Given the description of an element on the screen output the (x, y) to click on. 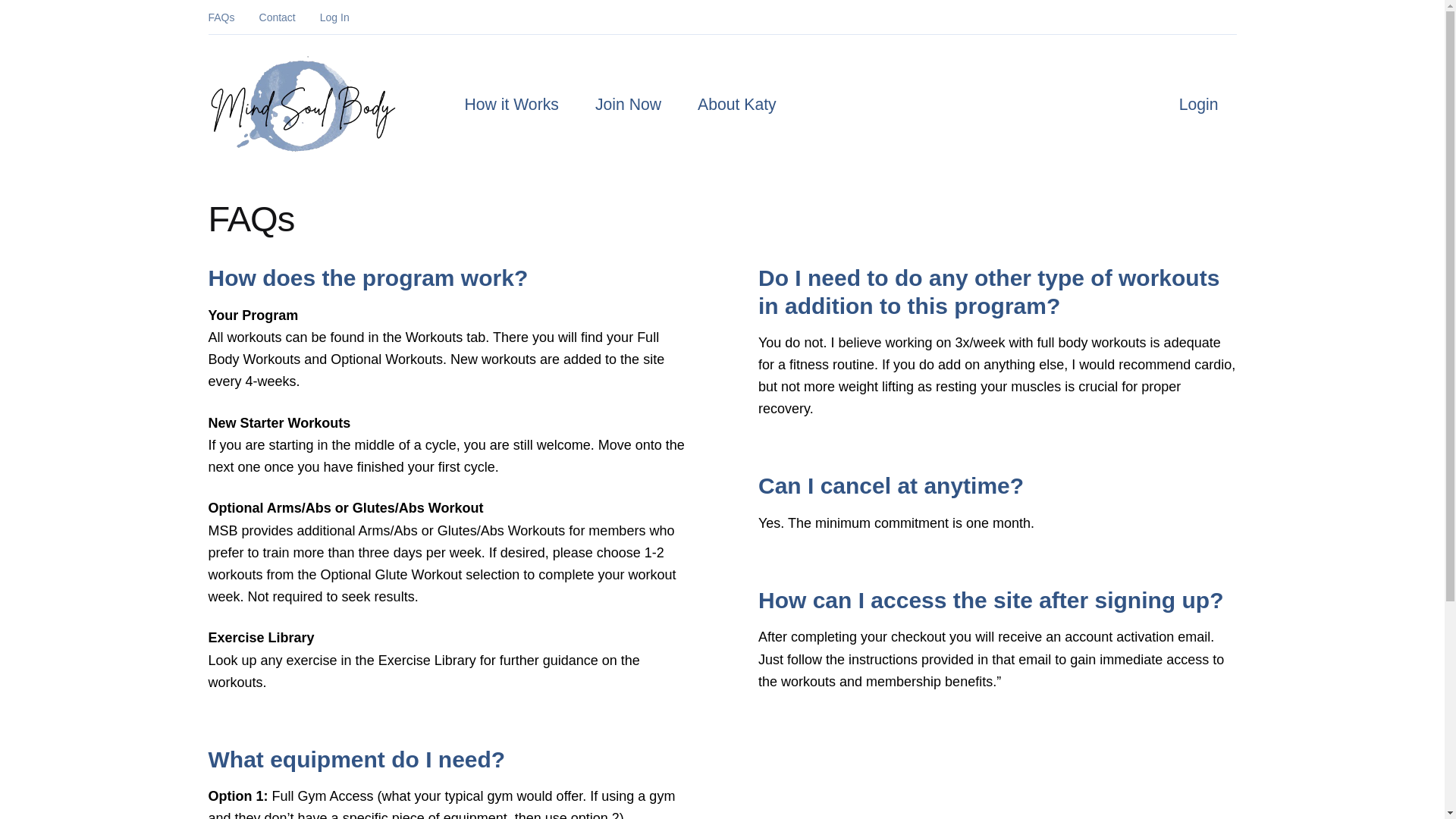
How it Works (510, 104)
Login (1198, 104)
Join Now (628, 104)
Contact (277, 17)
About Katy (736, 104)
Log In (334, 17)
FAQs (221, 17)
